Given the description of an element on the screen output the (x, y) to click on. 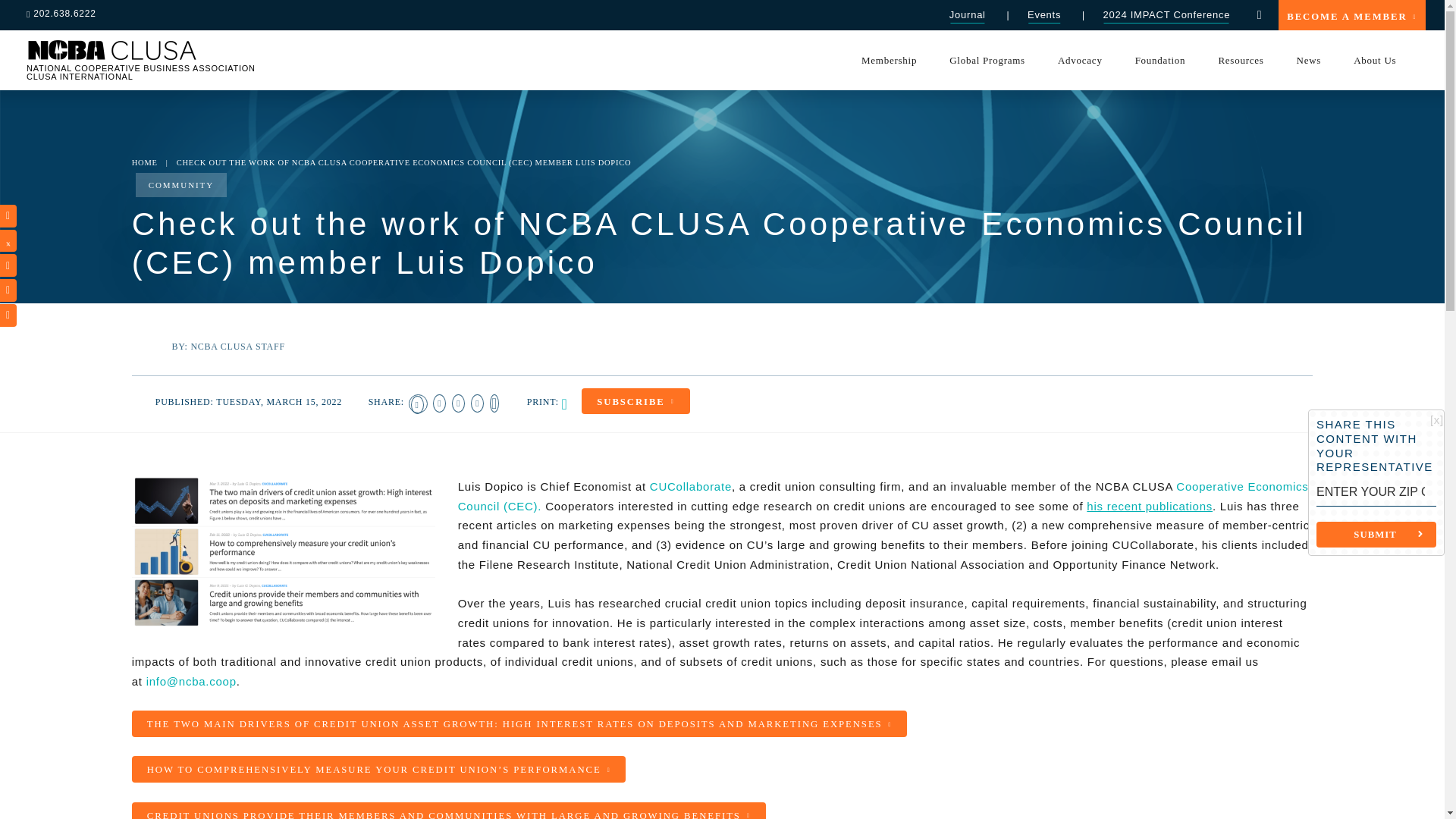
Advocacy (1079, 59)
2024 IMPACT Conference (1165, 15)
Global Programs (987, 59)
202.638.6222 (66, 14)
Journal (967, 15)
Events (1043, 15)
Membership (888, 59)
Submit (1375, 534)
BECOME A MEMBER (1351, 15)
